Given the description of an element on the screen output the (x, y) to click on. 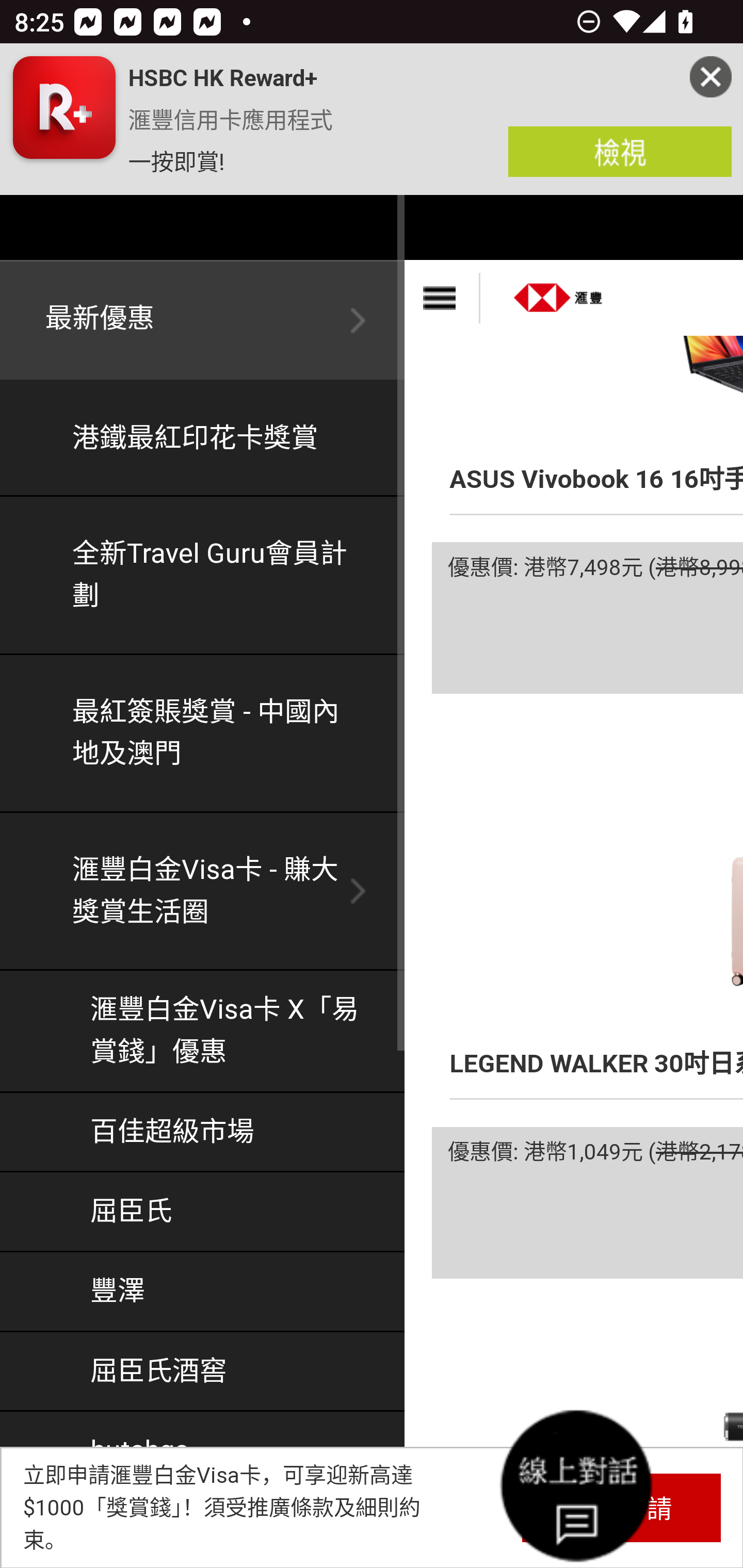
最新優惠 (203, 321)
HSBC (558, 291)
目錄 (442, 298)
港鐵最紅印花卡獎賞 港鐵最紅印花卡獎賞 港鐵最紅印花卡獎賞 (203, 439)
最紅簽賬獎賞 - 中國內地及澳門 最紅簽賬獎賞 - 中國內地及澳門 最紅簽賬獎賞 - 中國內地及澳門 (203, 733)
滙豐白金Visa卡 - 賺大獎賞生活圈 (203, 892)
滙豐白金Visa卡 X「易賞錢」優惠 (203, 1031)
百佳超級市場 (203, 1131)
屈臣氏 (203, 1211)
豐澤 (203, 1292)
屈臣氏酒窖 (203, 1370)
立即申請 (621, 1507)
最紅購物優惠 最紅購物優惠 最紅購物優惠 (203, 1529)
